Given the description of an element on the screen output the (x, y) to click on. 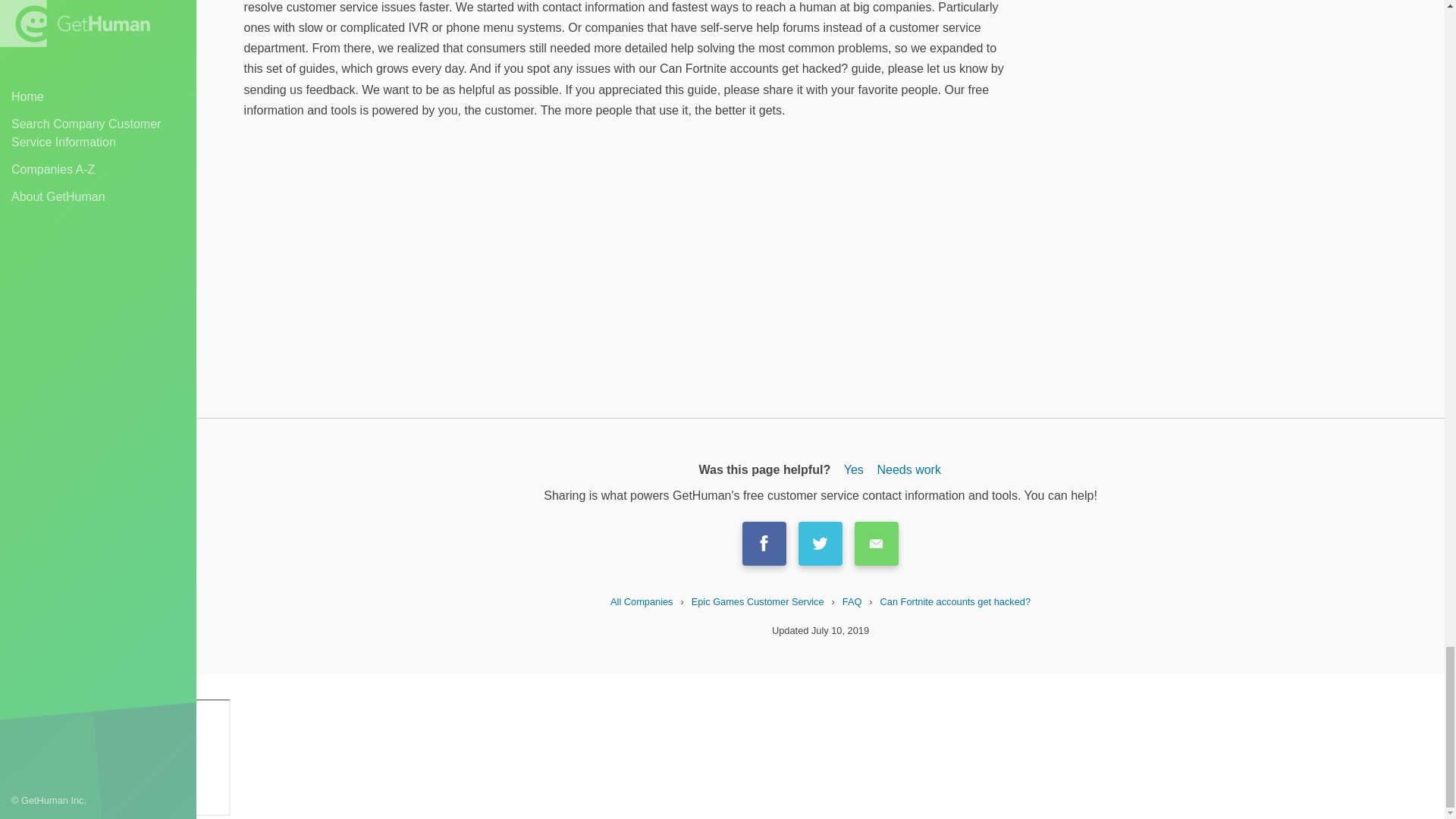
Share with Facebook (764, 543)
Can Fortnite accounts get hacked? (955, 601)
Needs work (908, 470)
Yes (853, 470)
Epic Games Customer Service (757, 601)
Share via Twitter (819, 543)
FAQ (852, 601)
Share via Email (876, 543)
All Companies (641, 601)
